Given the description of an element on the screen output the (x, y) to click on. 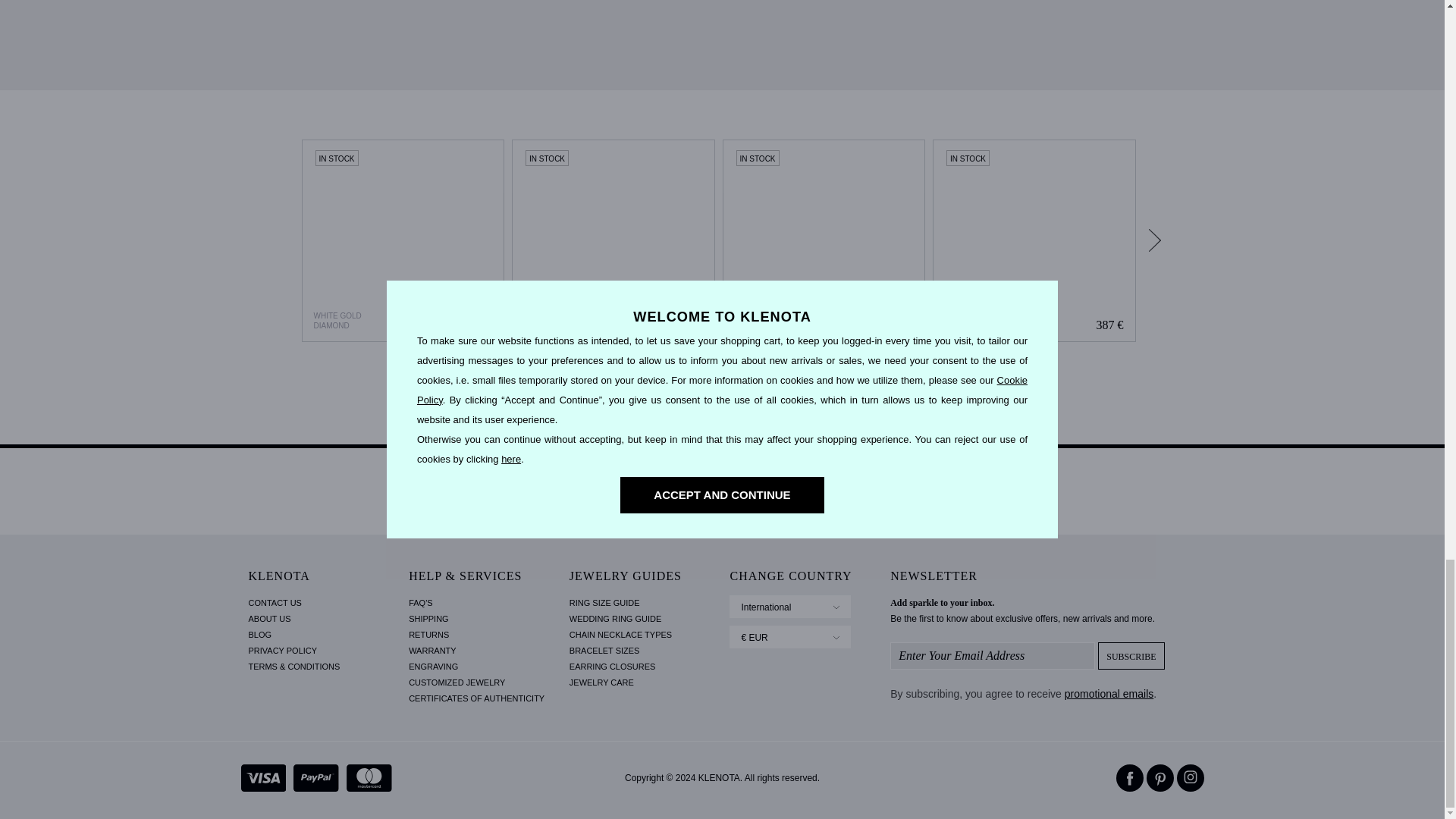
Bird Pendant with a Diamond in White Gold (1034, 241)
Bird-shaped Pendant Necklace in White Gold (613, 241)
Pinterest (1160, 777)
Bird-shaped Pendant Necklace in White Gold (613, 241)
Bird Pendant with a Diamond in White Gold (1034, 241)
Snowflake Diamond Necklace in 14K White Gold (823, 241)
White Gold Diamond Children's Angel Pendant (402, 241)
Snowflake Diamond Necklace in 14K White Gold (823, 241)
White Gold Diamond Children's Angel Pendant (403, 241)
Instagram (1190, 777)
